Given the description of an element on the screen output the (x, y) to click on. 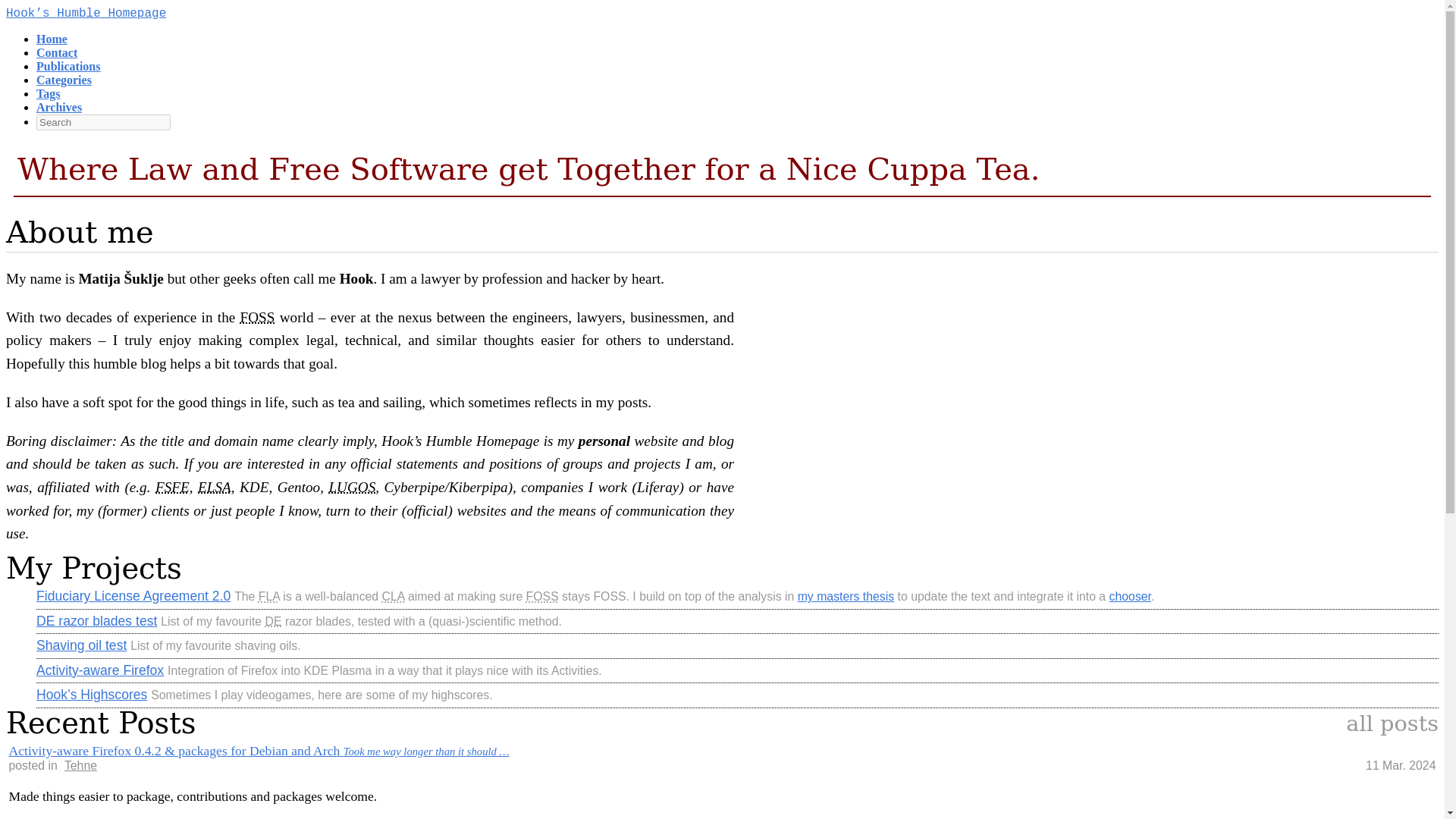
Tags (47, 92)
Home (51, 38)
Contact (56, 51)
Publications (68, 65)
Activity-aware Firefox (99, 670)
Double-Edged (273, 621)
Shaving oil test (81, 645)
DE razor blades test (96, 620)
Fiduciary License Agreement (269, 595)
my masters thesis (846, 595)
Categories (63, 79)
chooser (1130, 595)
Contributor License Agreement (392, 595)
Tehne (79, 765)
